Given the description of an element on the screen output the (x, y) to click on. 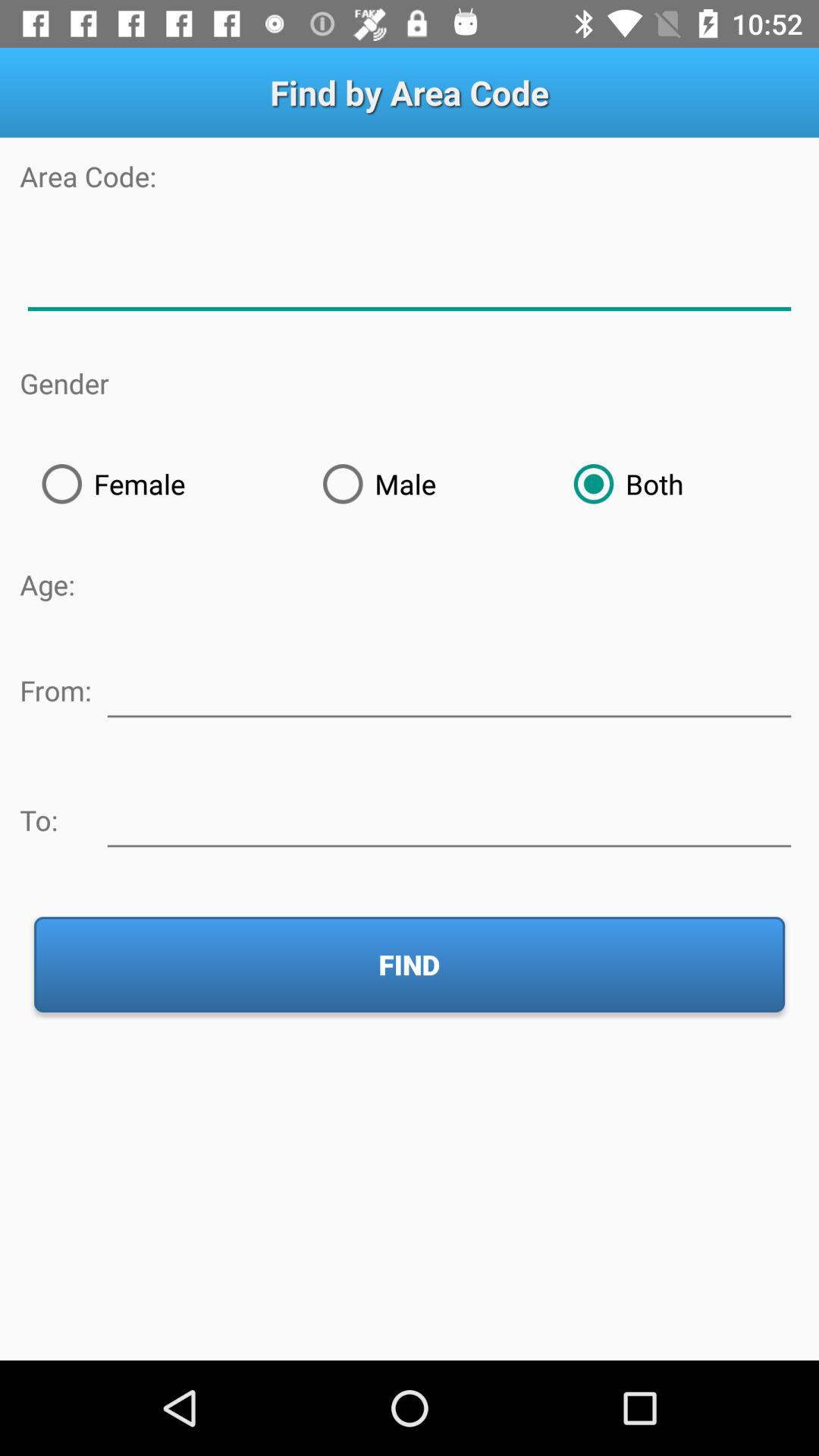
press icon next to the female radio button (426, 483)
